Given the description of an element on the screen output the (x, y) to click on. 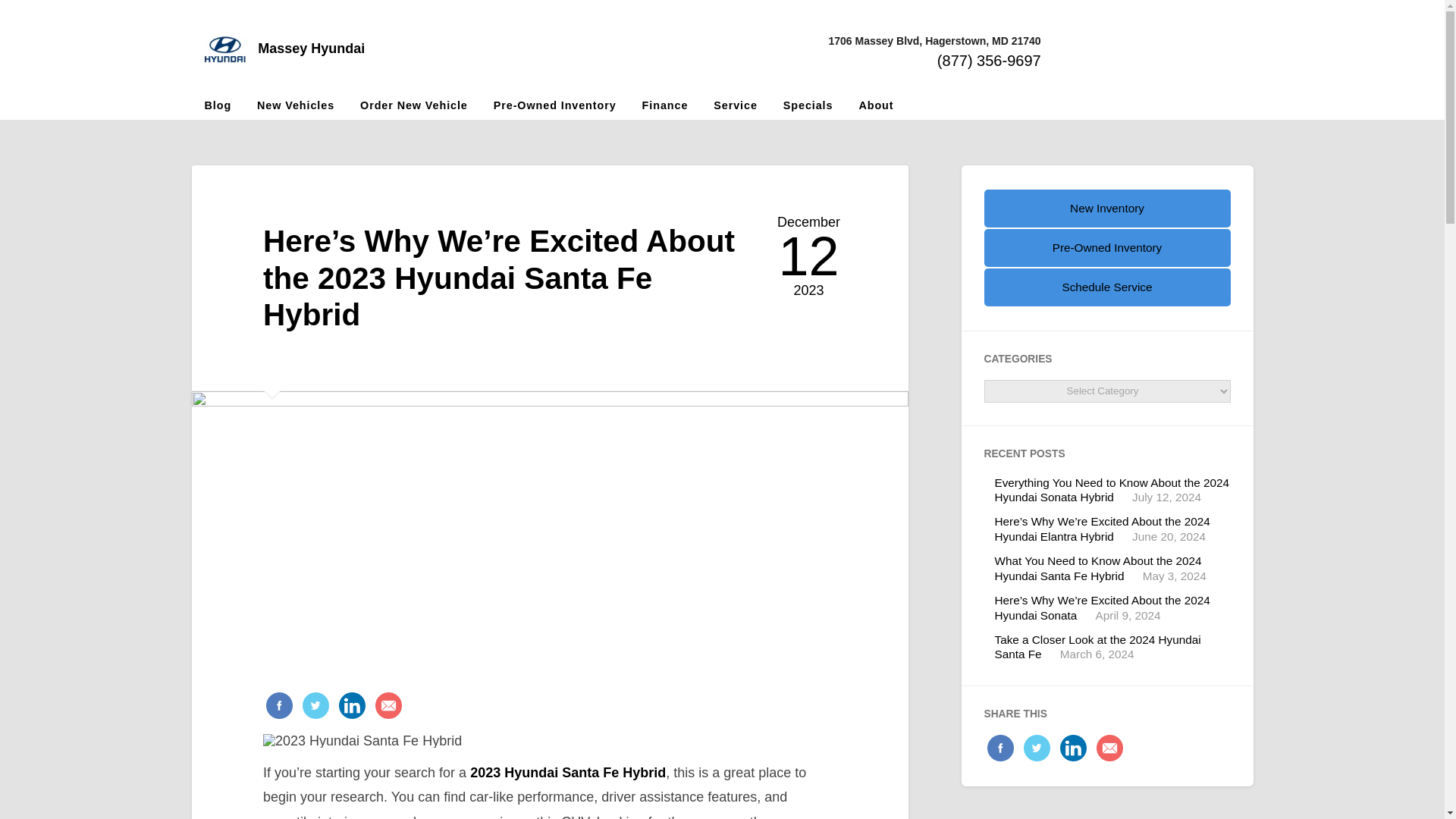
Email (1107, 748)
2023 Hyundai Santa Fe Hybrid (567, 772)
About (875, 104)
New Vehicles (295, 104)
LinkedIn (349, 706)
Facebook (279, 706)
LinkedIn (1070, 748)
Facebook (1000, 748)
Twitter (1034, 748)
Order New Vehicle (413, 104)
Finance (664, 104)
Specials (807, 104)
Email (386, 706)
Pre-Owned Inventory (554, 104)
Blog (217, 104)
